Given the description of an element on the screen output the (x, y) to click on. 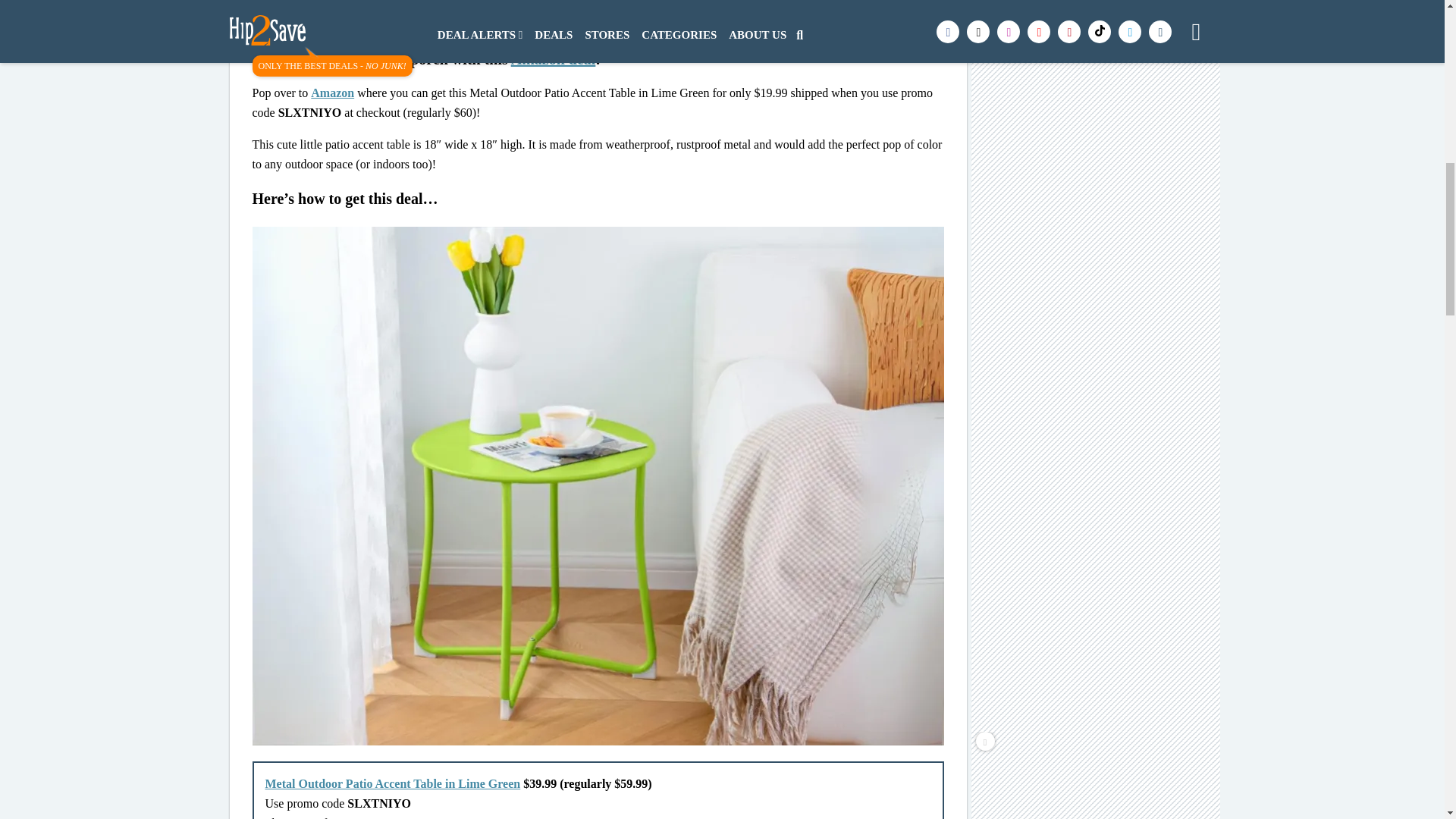
Amazon deal (553, 58)
Amazon (332, 92)
Metal Outdoor Patio Accent Table in Lime Green (392, 783)
